Given the description of an element on the screen output the (x, y) to click on. 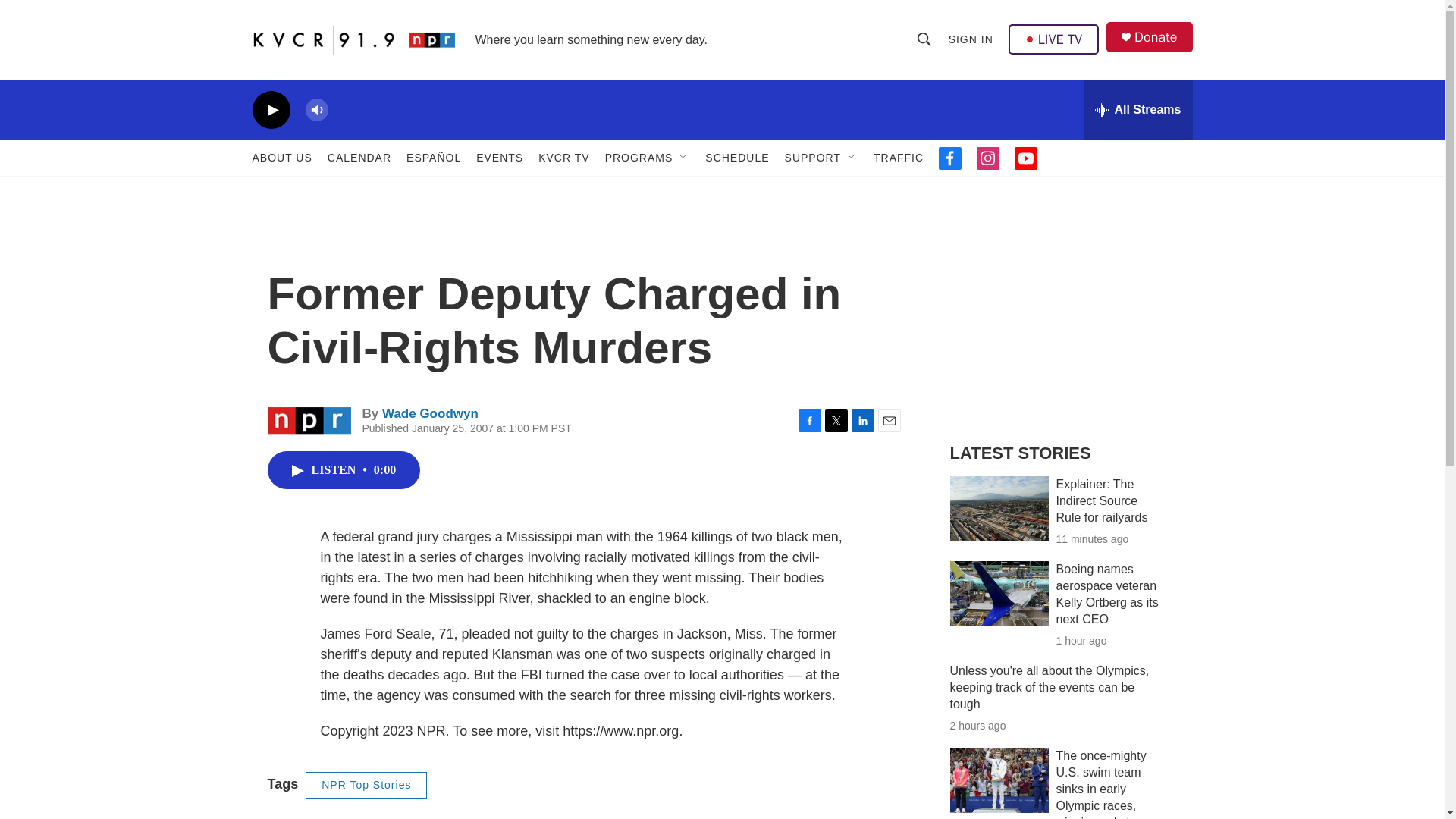
3rd party ad content (1062, 316)
